Given the description of an element on the screen output the (x, y) to click on. 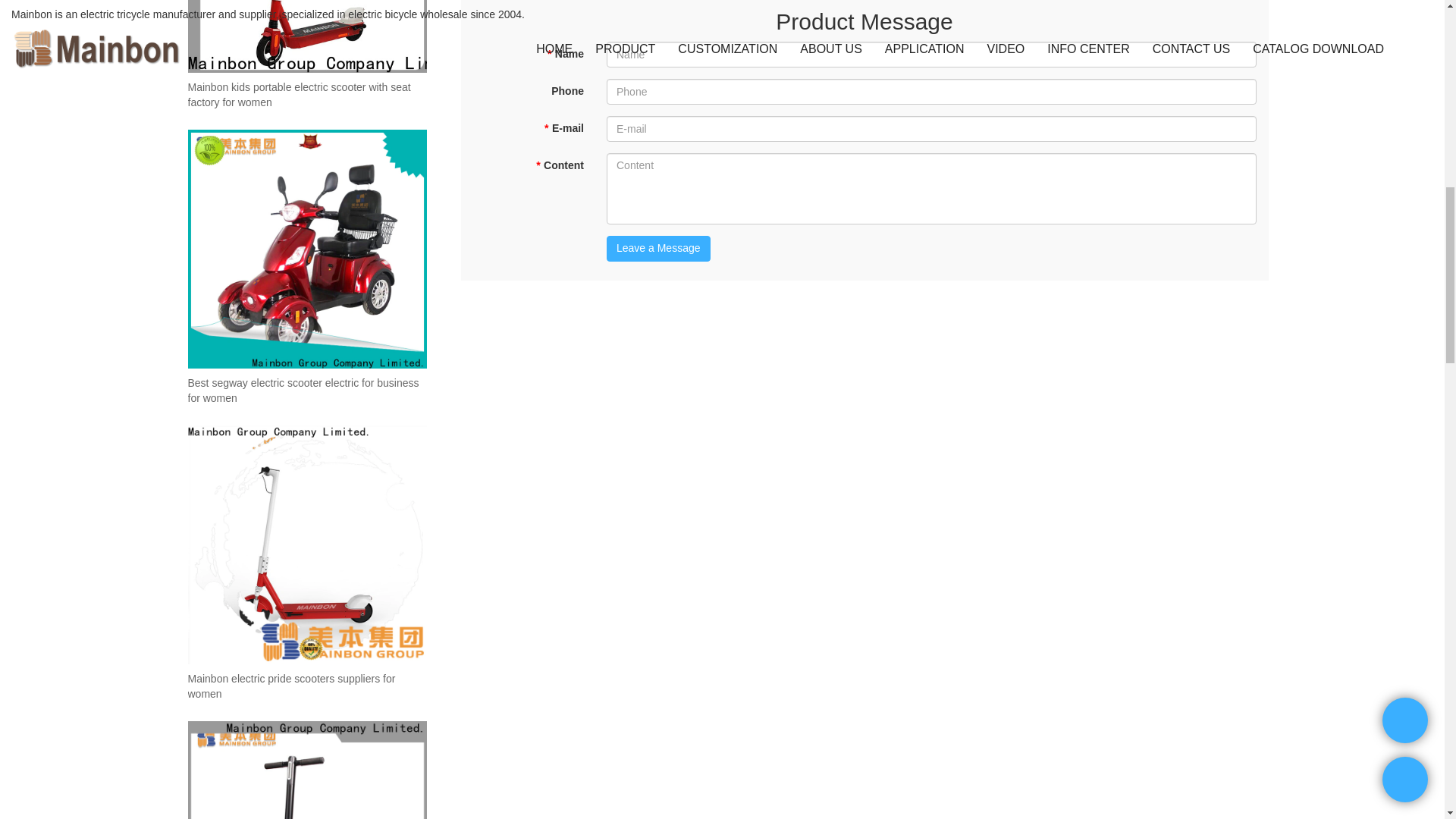
Mainbon electric pride scooters suppliers for women (306, 686)
Best segway electric scooter electric for business for women (306, 390)
